Given the description of an element on the screen output the (x, y) to click on. 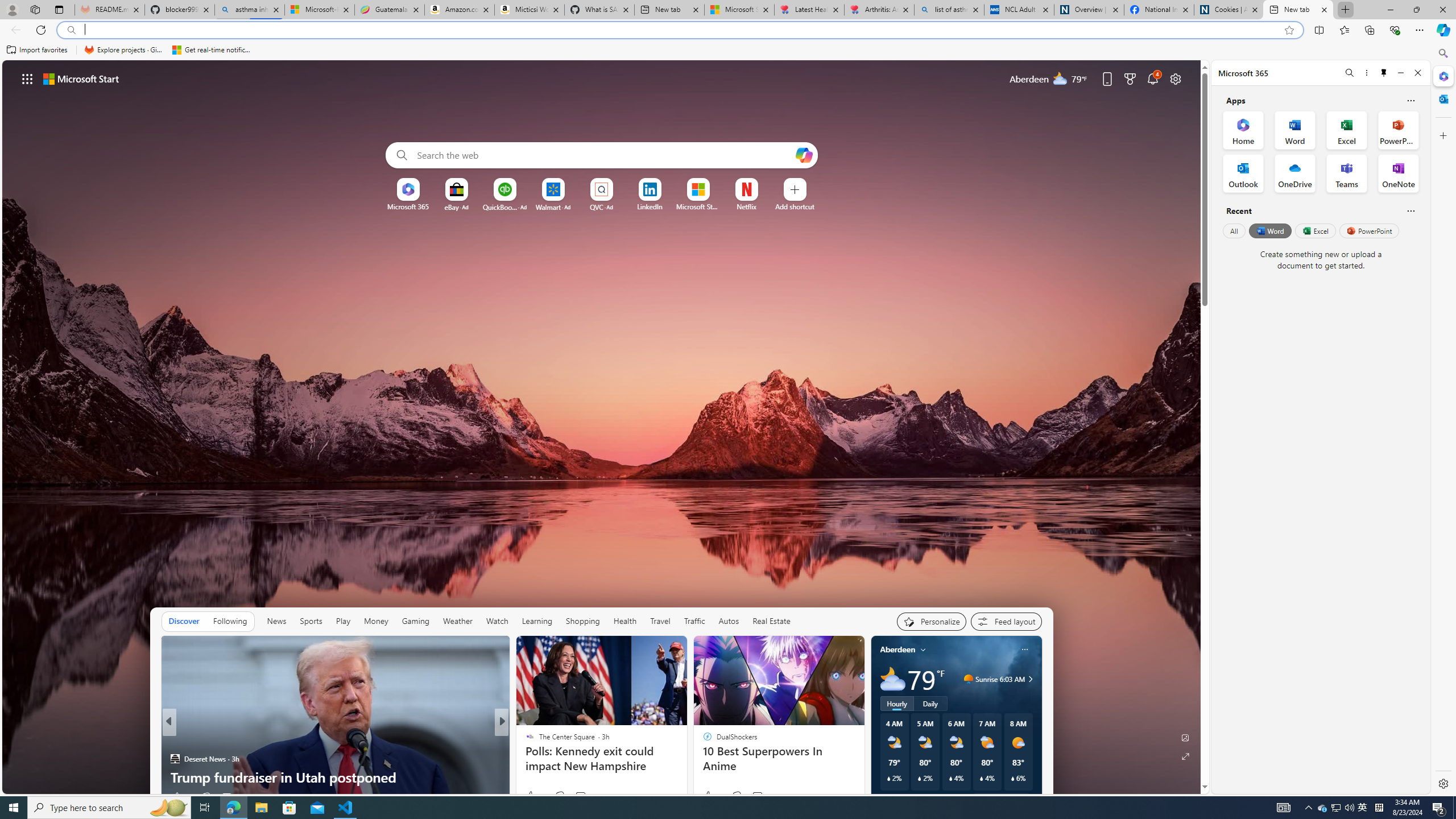
PowerPoint Office App (1398, 129)
1k Like (711, 795)
Excel Office App (1346, 129)
Excel (1315, 230)
Home Office App (1243, 129)
